Given the description of an element on the screen output the (x, y) to click on. 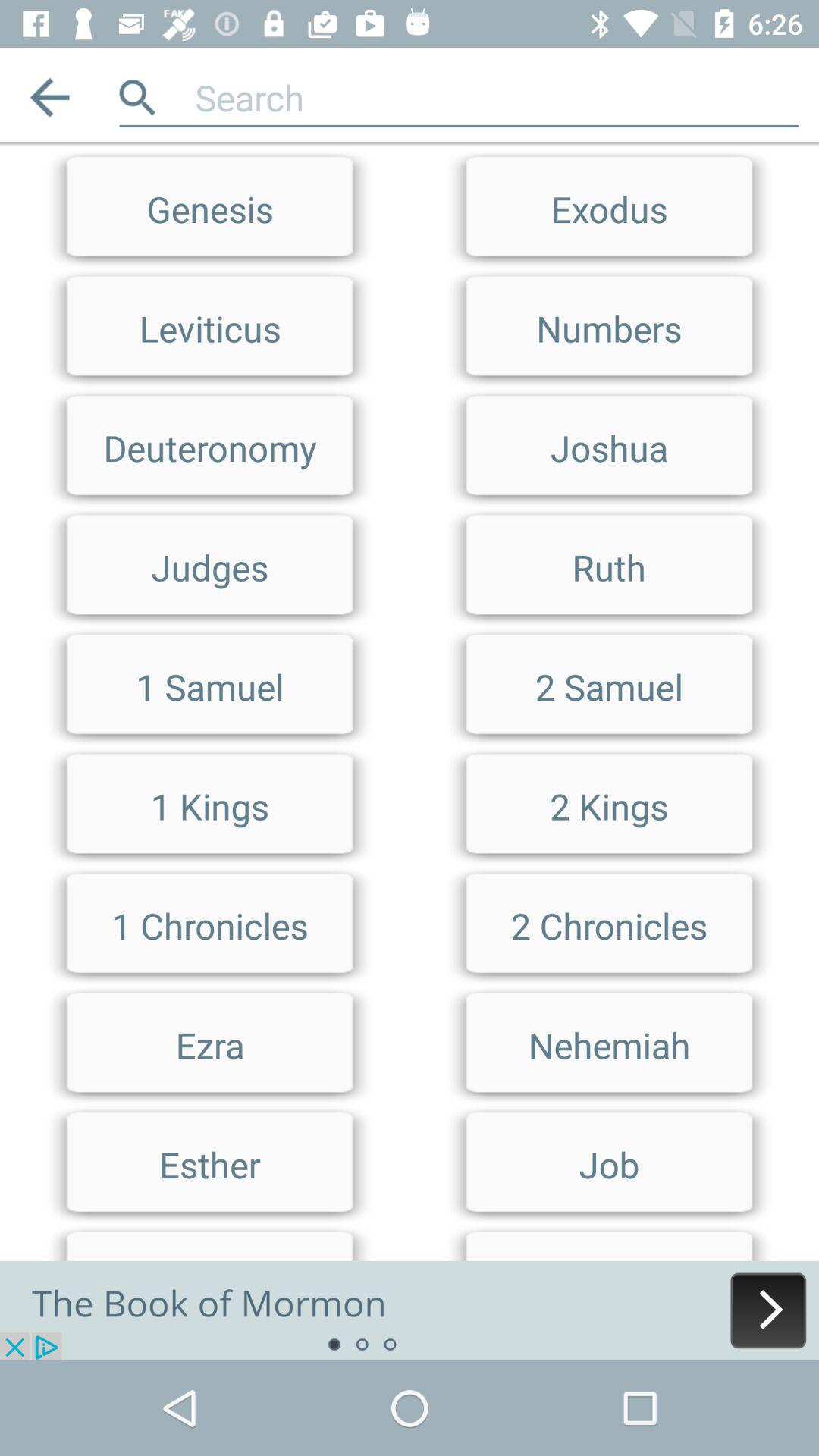
the book of mormon (409, 1310)
